Given the description of an element on the screen output the (x, y) to click on. 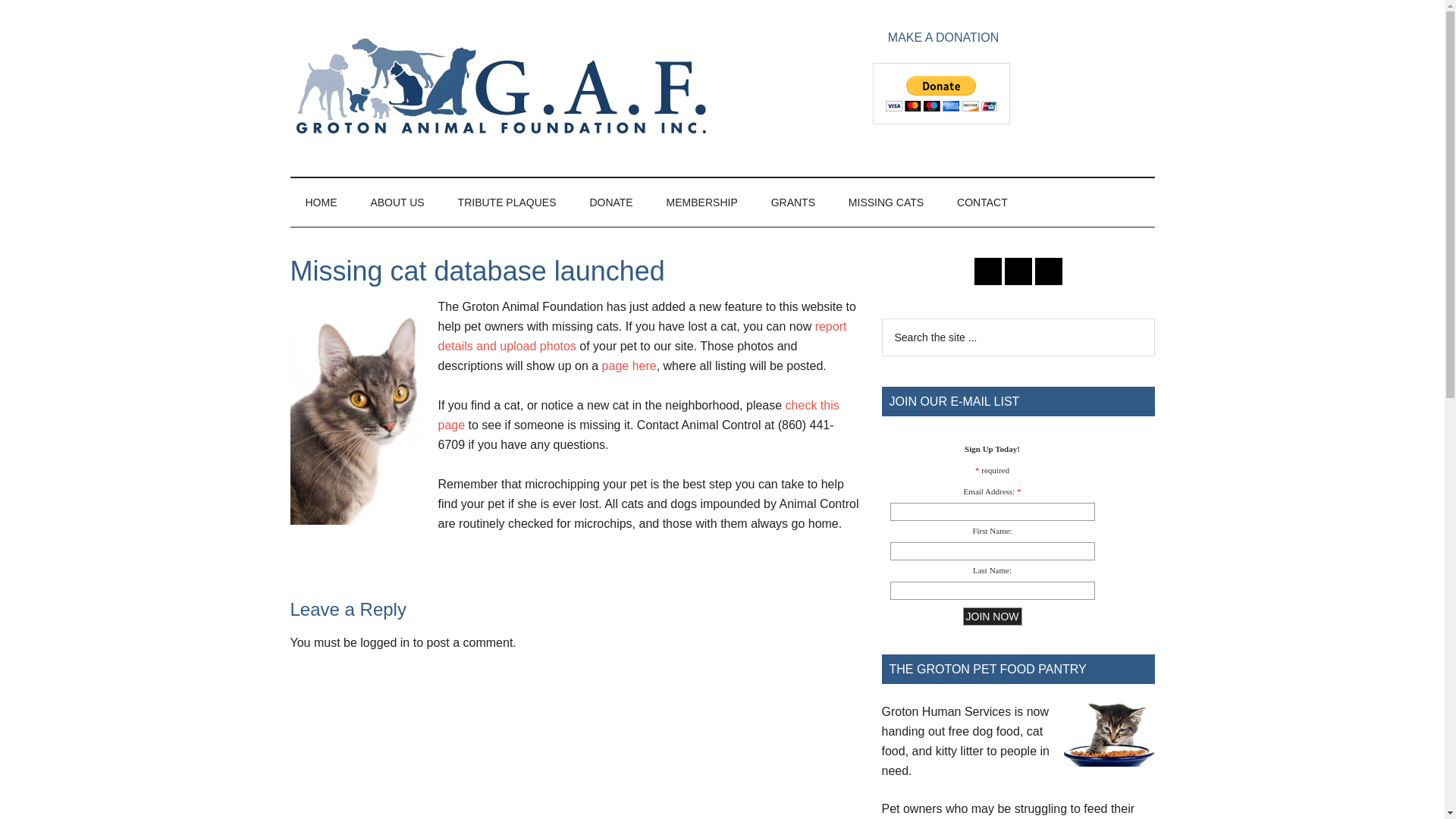
Enter a description of your missing cat (642, 336)
Join Now (992, 616)
logged in (384, 642)
check this page (639, 414)
Missing cats  (629, 365)
Join Now (992, 616)
ABOUT US (397, 202)
MEMBERSHIP (701, 202)
GRANTS (792, 202)
